Given the description of an element on the screen output the (x, y) to click on. 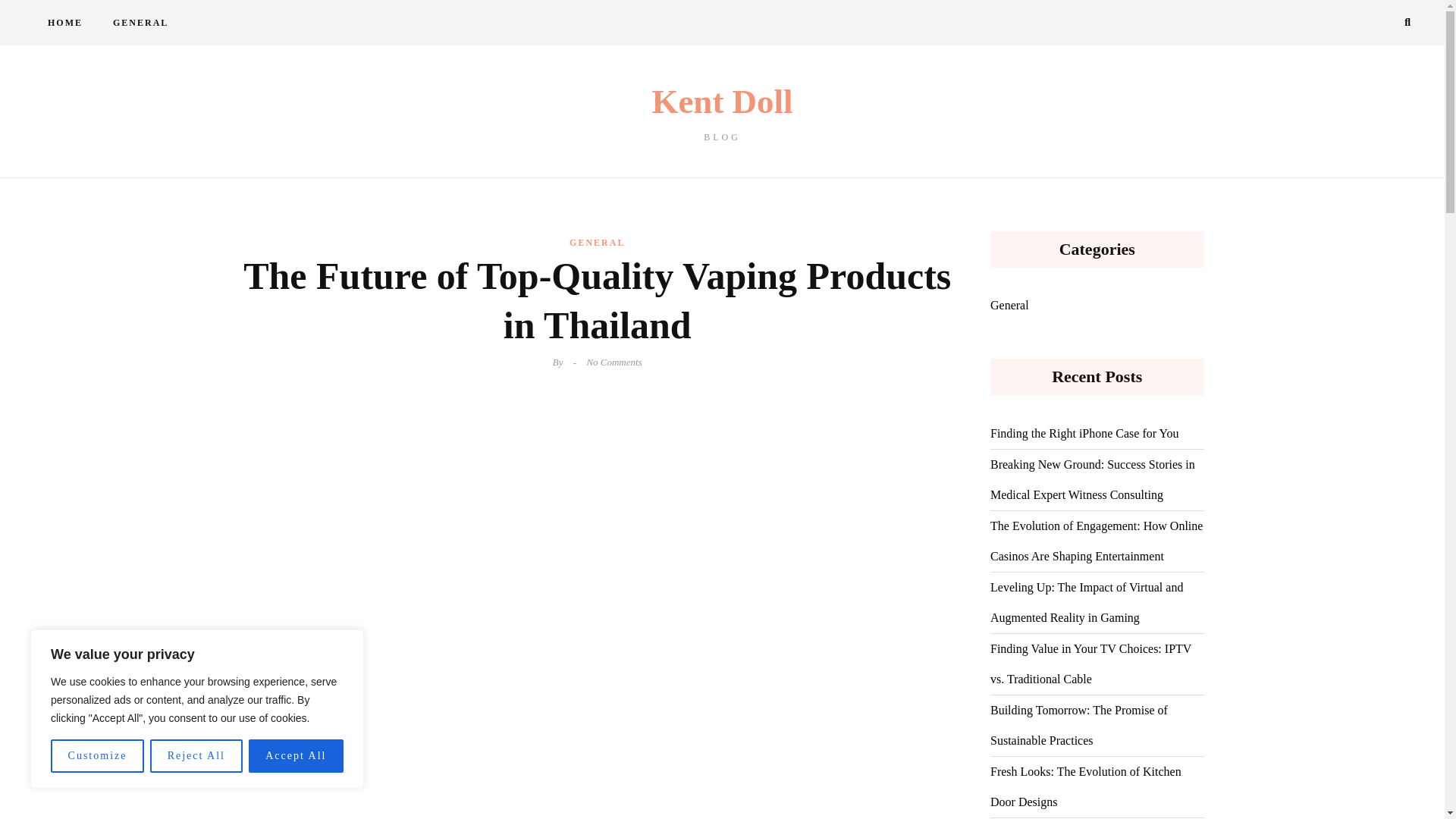
HOME (64, 22)
GENERAL (596, 241)
Accept All (295, 756)
Customize (721, 112)
GENERAL (97, 756)
Reject All (140, 22)
